Given the description of an element on the screen output the (x, y) to click on. 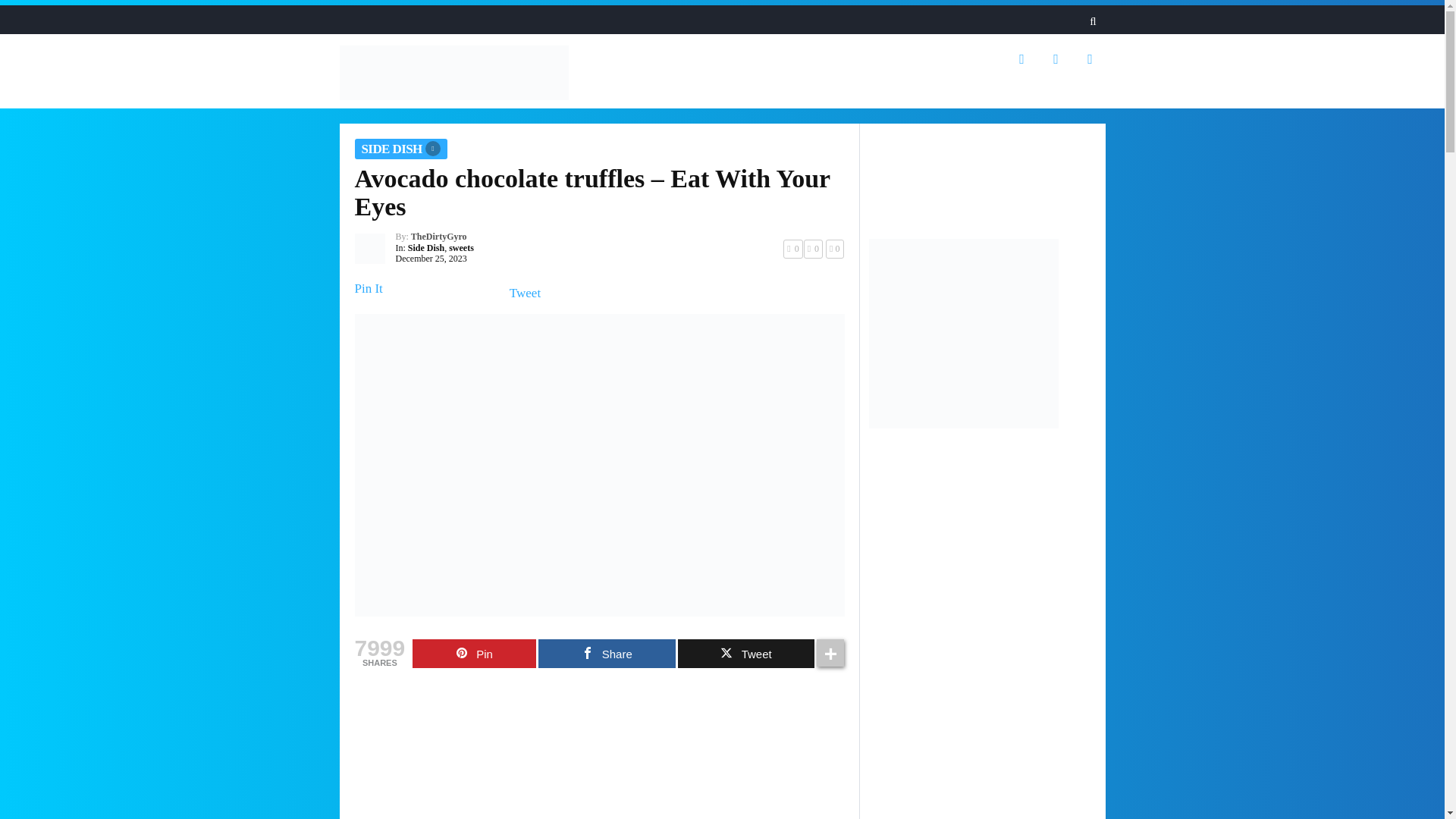
View all posts in sweets (461, 247)
Side Dish (425, 247)
Tweet (524, 292)
Pin It (368, 288)
Pin (473, 653)
Share (606, 653)
SIDE DISH (400, 148)
TheDirtyGyro (438, 235)
Posts by TheDirtyGyro (438, 235)
Tweet (746, 653)
